Given the description of an element on the screen output the (x, y) to click on. 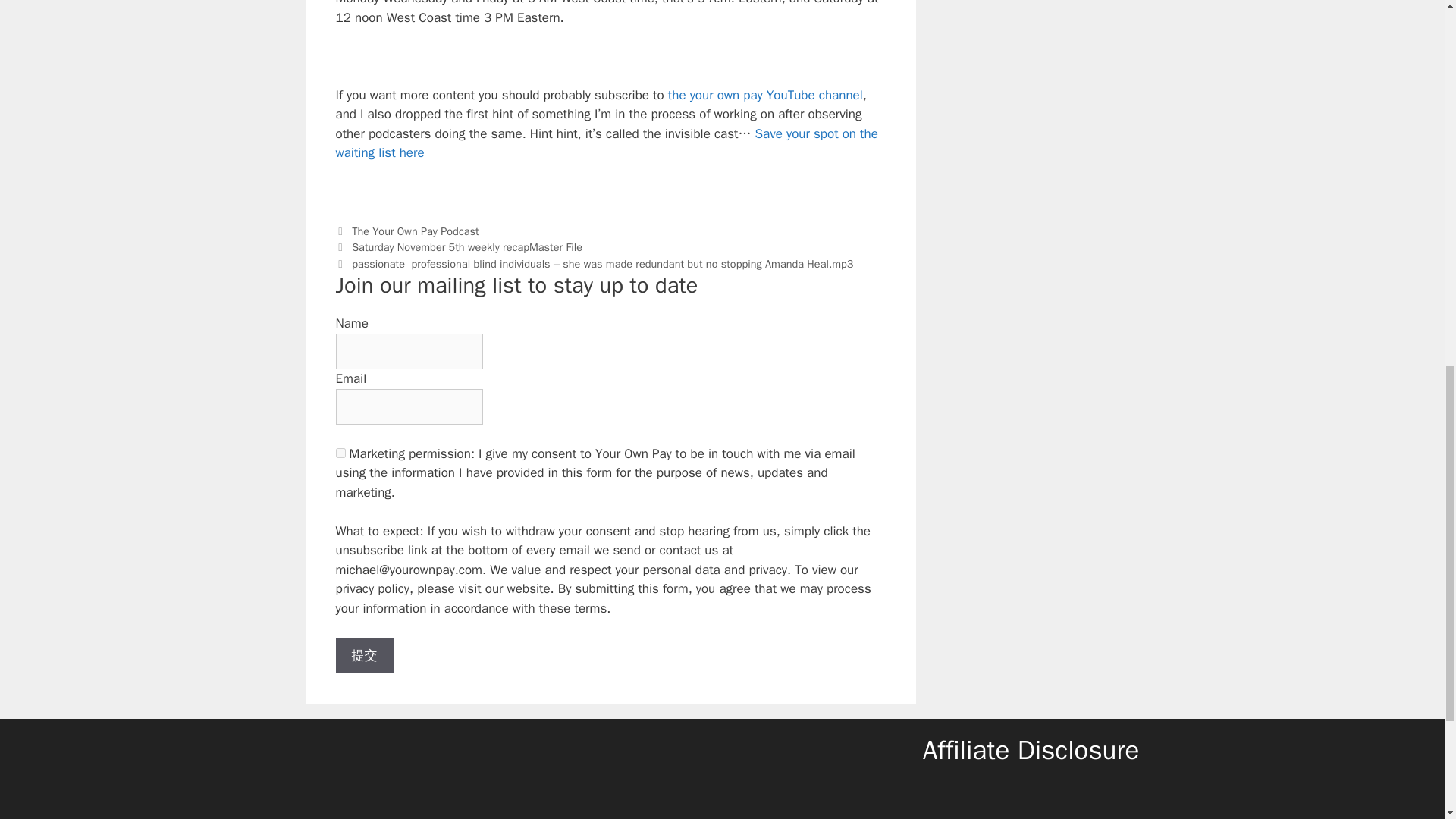
Save your spot on the waiting list here (605, 143)
on (339, 452)
the your own pay YouTube channel (765, 94)
The Your Own Pay Podcast (415, 231)
Saturday November 5th weekly recapMaster File (467, 246)
